Given the description of an element on the screen output the (x, y) to click on. 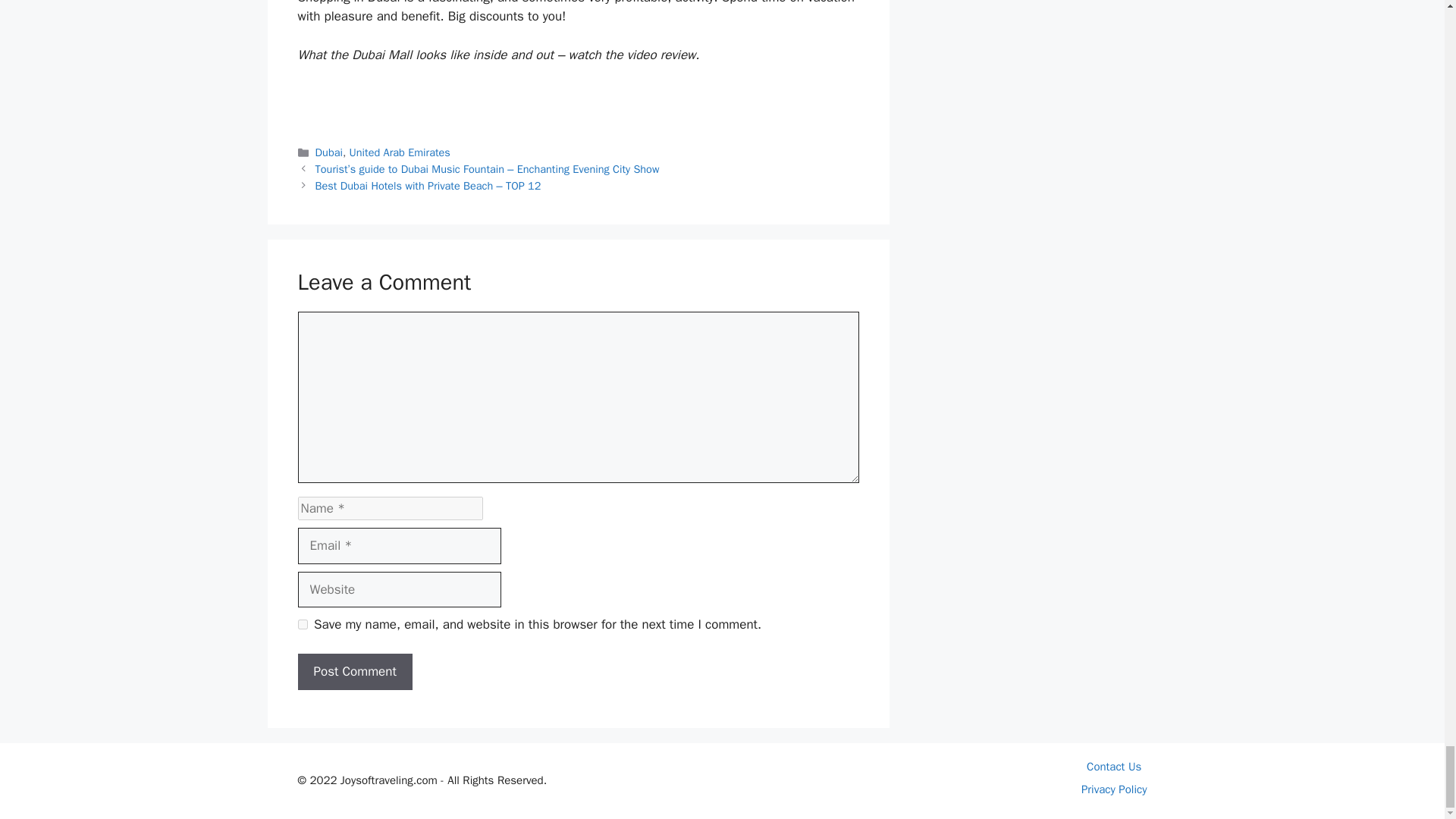
Post Comment (354, 671)
Next (428, 185)
Dubai (328, 151)
yes (302, 624)
Previous (487, 169)
